Given the description of an element on the screen output the (x, y) to click on. 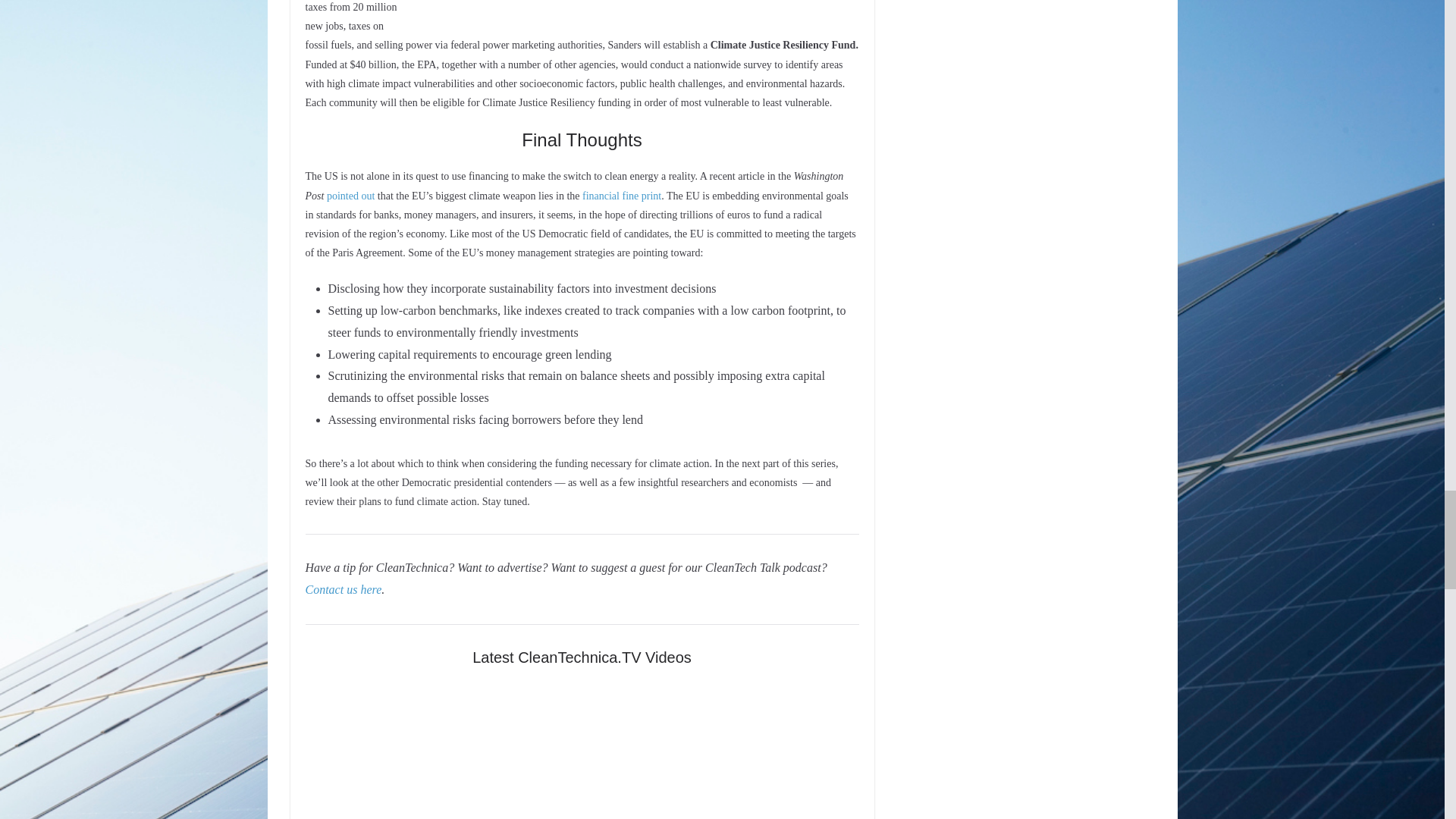
YouTube video player (581, 750)
